Given the description of an element on the screen output the (x, y) to click on. 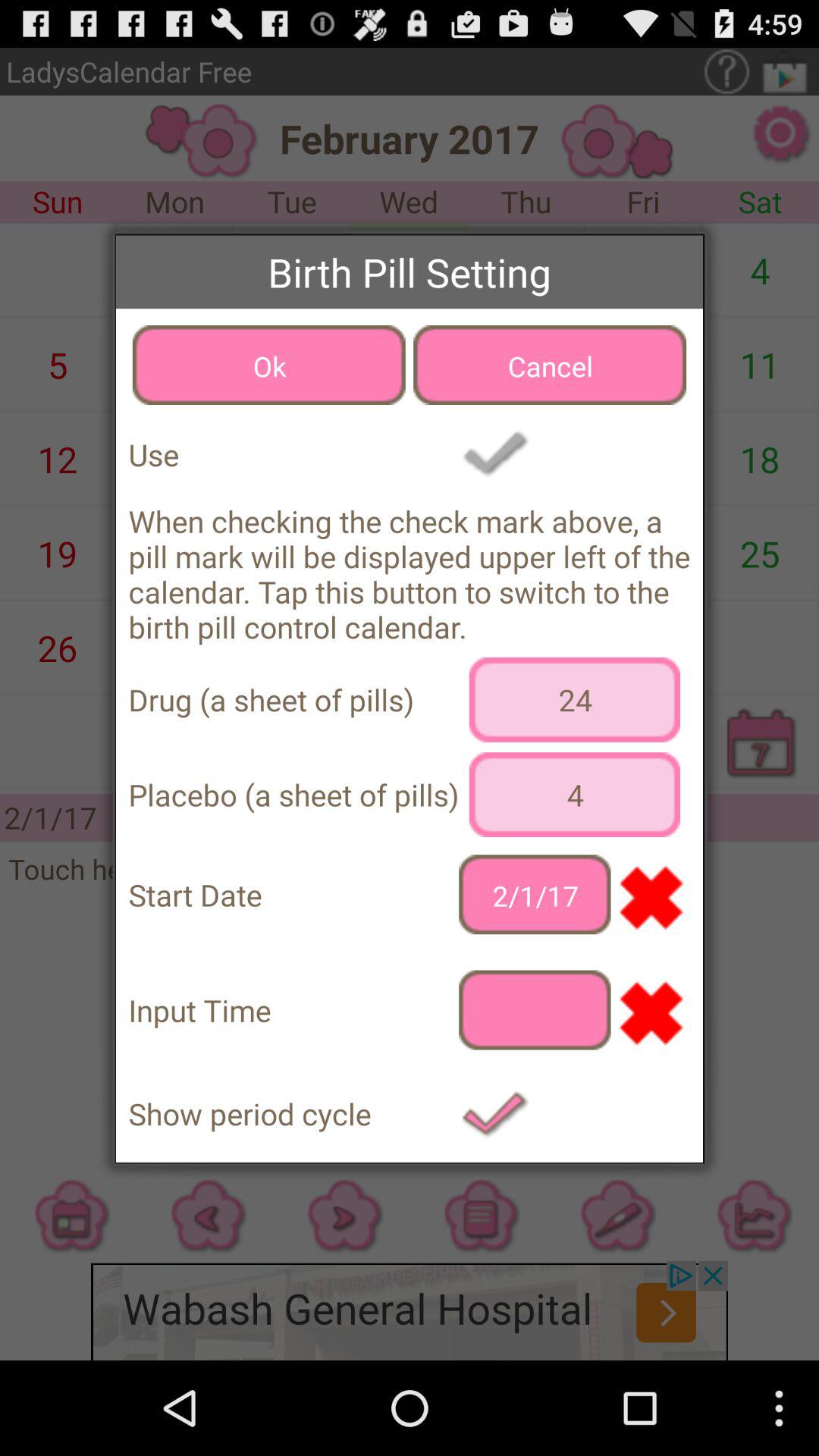
select the item below when checking the (574, 699)
